Given the description of an element on the screen output the (x, y) to click on. 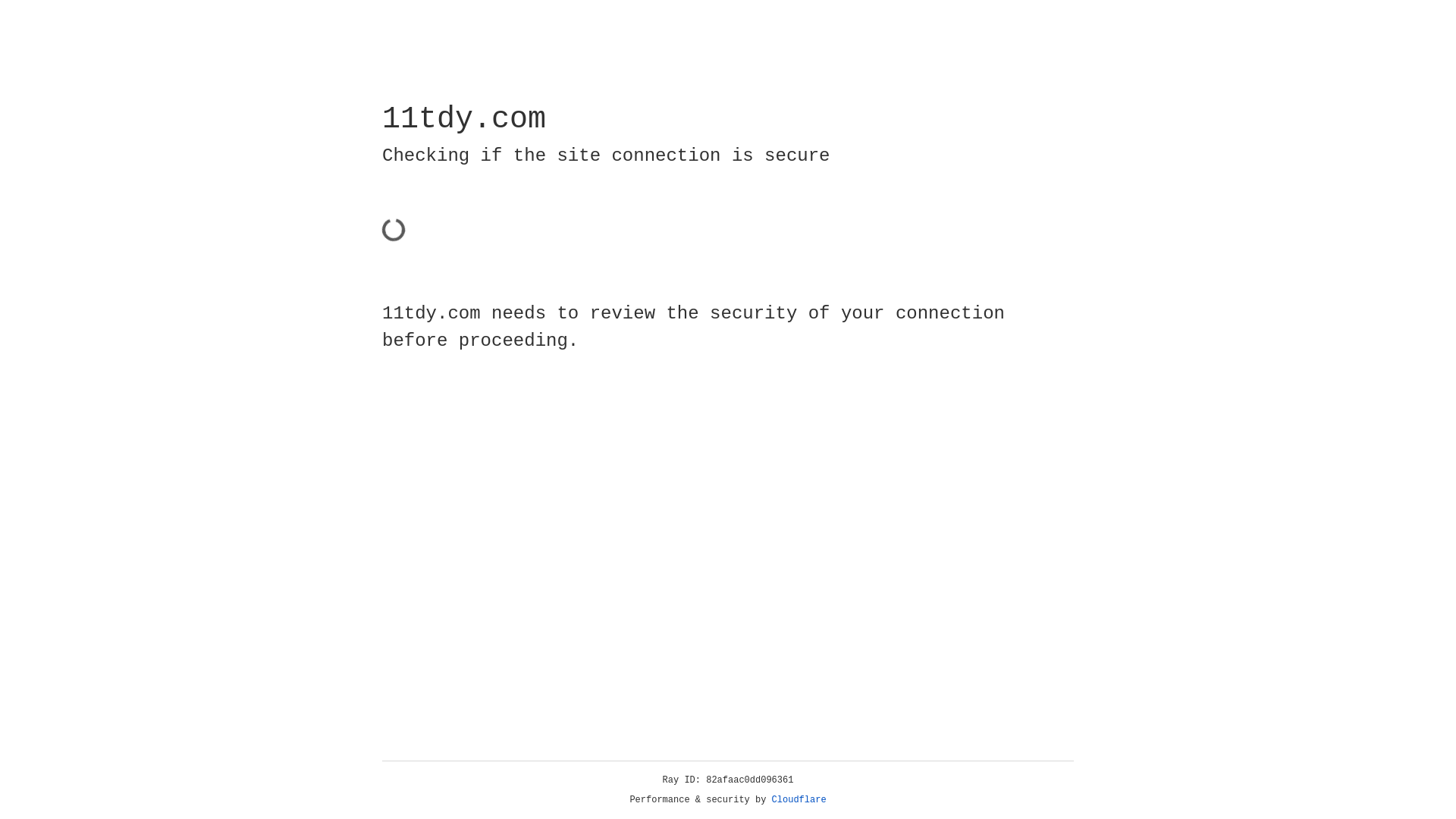
Cloudflare Element type: text (798, 799)
